Given the description of an element on the screen output the (x, y) to click on. 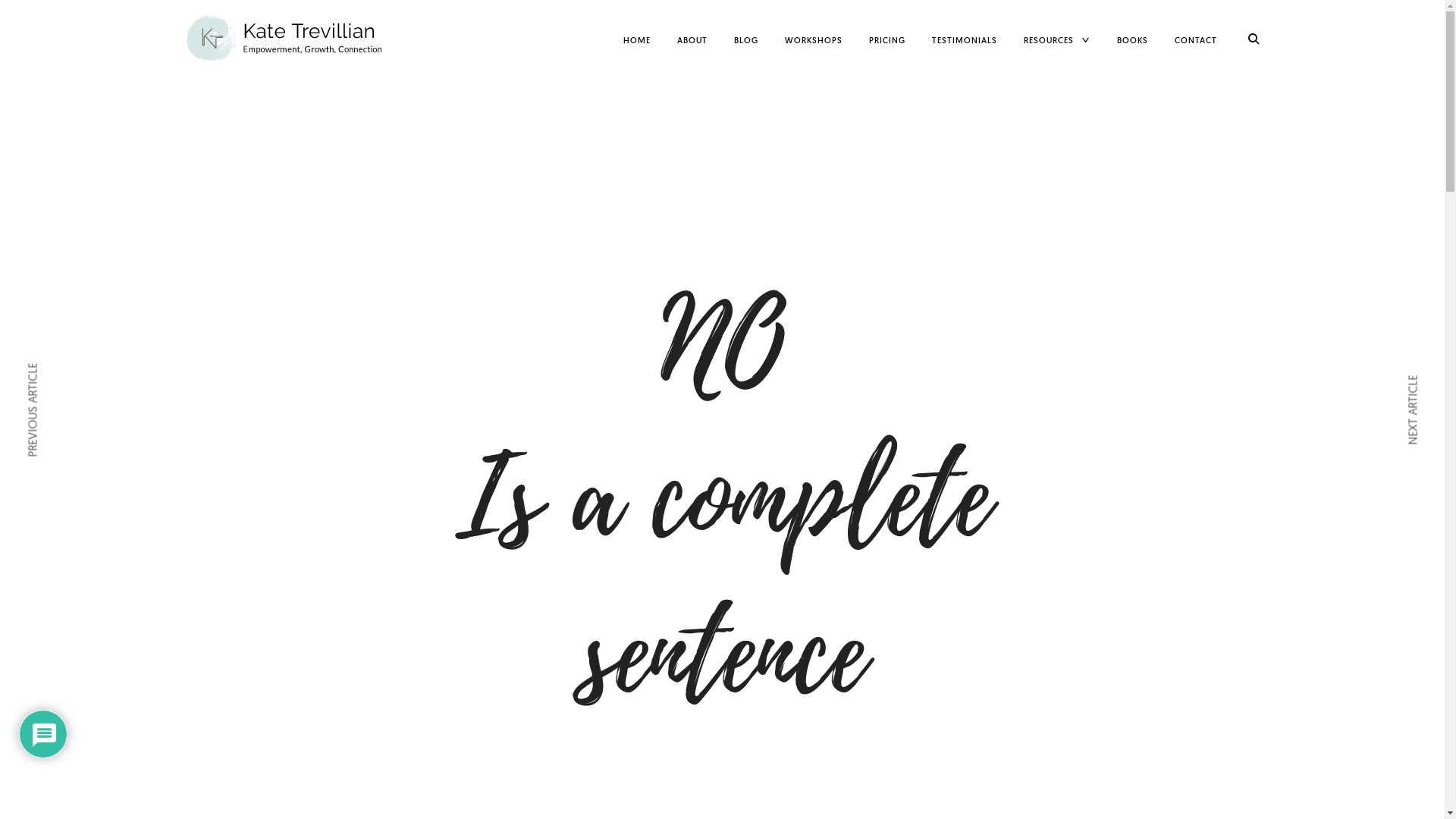
PRICING Element type: text (887, 39)
toggle child menu Element type: text (1085, 40)
HOME Element type: text (636, 39)
ABOUT Element type: text (692, 39)
RESOURCES Element type: text (1048, 39)
WORKSHOPS Element type: text (813, 39)
Search Element type: text (51, 17)
BLOG Element type: text (746, 39)
BOOKS Element type: text (1131, 39)
TESTIMONIALS Element type: text (964, 39)
CONTACT Element type: text (1194, 39)
